Given the description of an element on the screen output the (x, y) to click on. 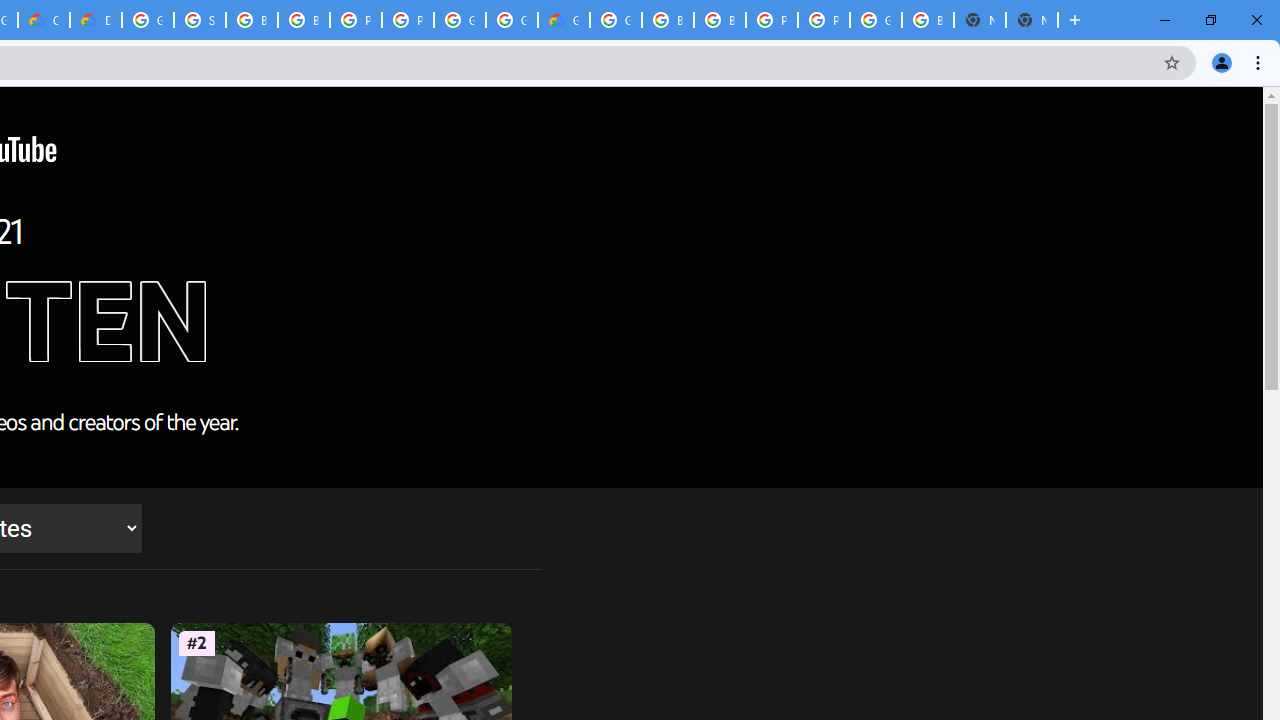
Google Cloud Estimate Summary (563, 20)
Browse Chrome as a guest - Computer - Google Chrome Help (303, 20)
Google Cloud Platform (616, 20)
Google Cloud Platform (875, 20)
Google Cloud Platform (511, 20)
Browse Chrome as a guest - Computer - Google Chrome Help (251, 20)
